Given the description of an element on the screen output the (x, y) to click on. 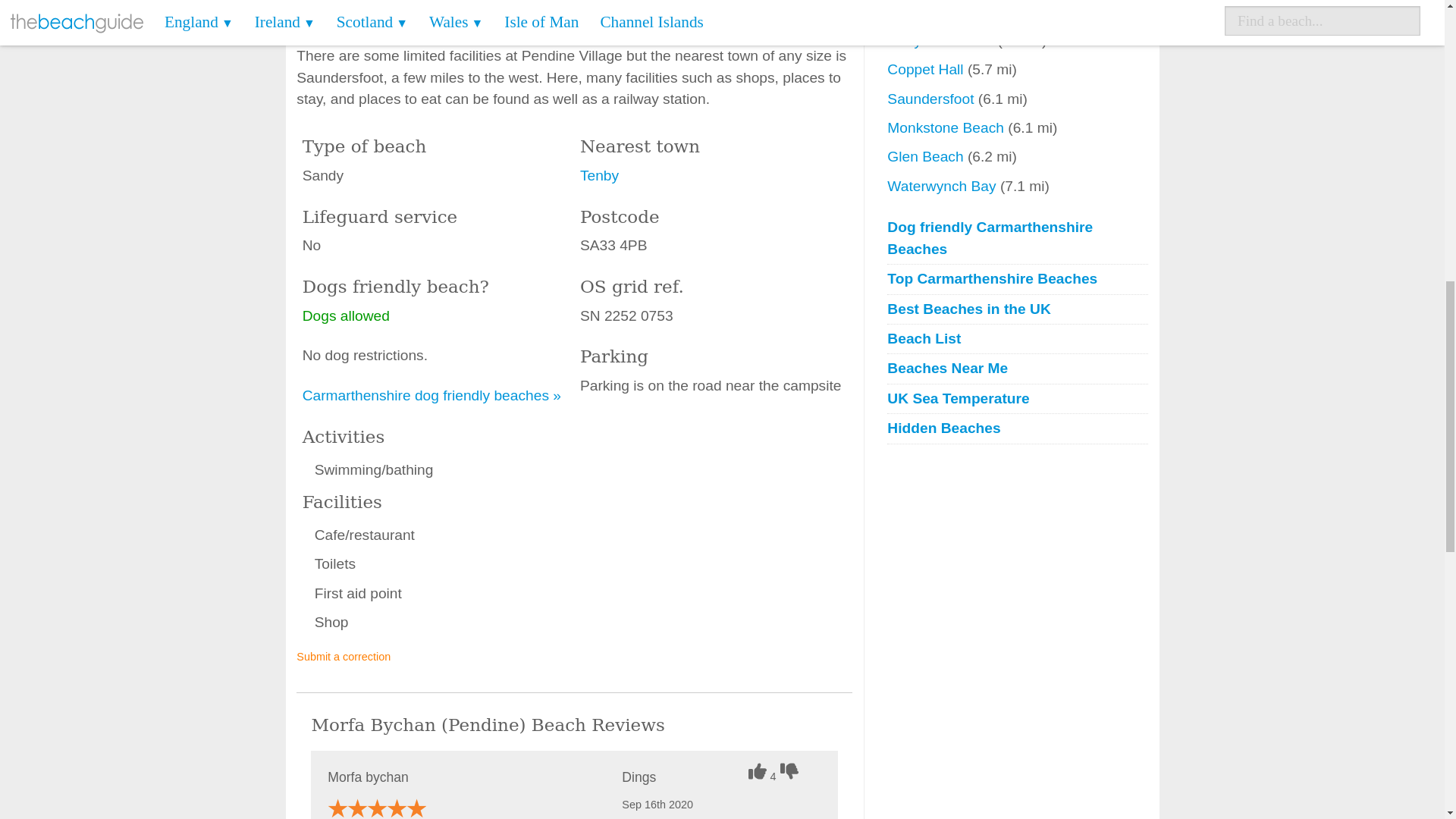
Wisemans Bridge (946, 10)
Monkstone Beach (946, 127)
Vote up (759, 771)
Saundersfoot (931, 98)
Waterwynch Bay (943, 186)
Tenby (598, 175)
Coppet Hall (927, 68)
Glen Beach (927, 156)
Vote down (791, 771)
Ferryside Beach (941, 40)
